Given the description of an element on the screen output the (x, y) to click on. 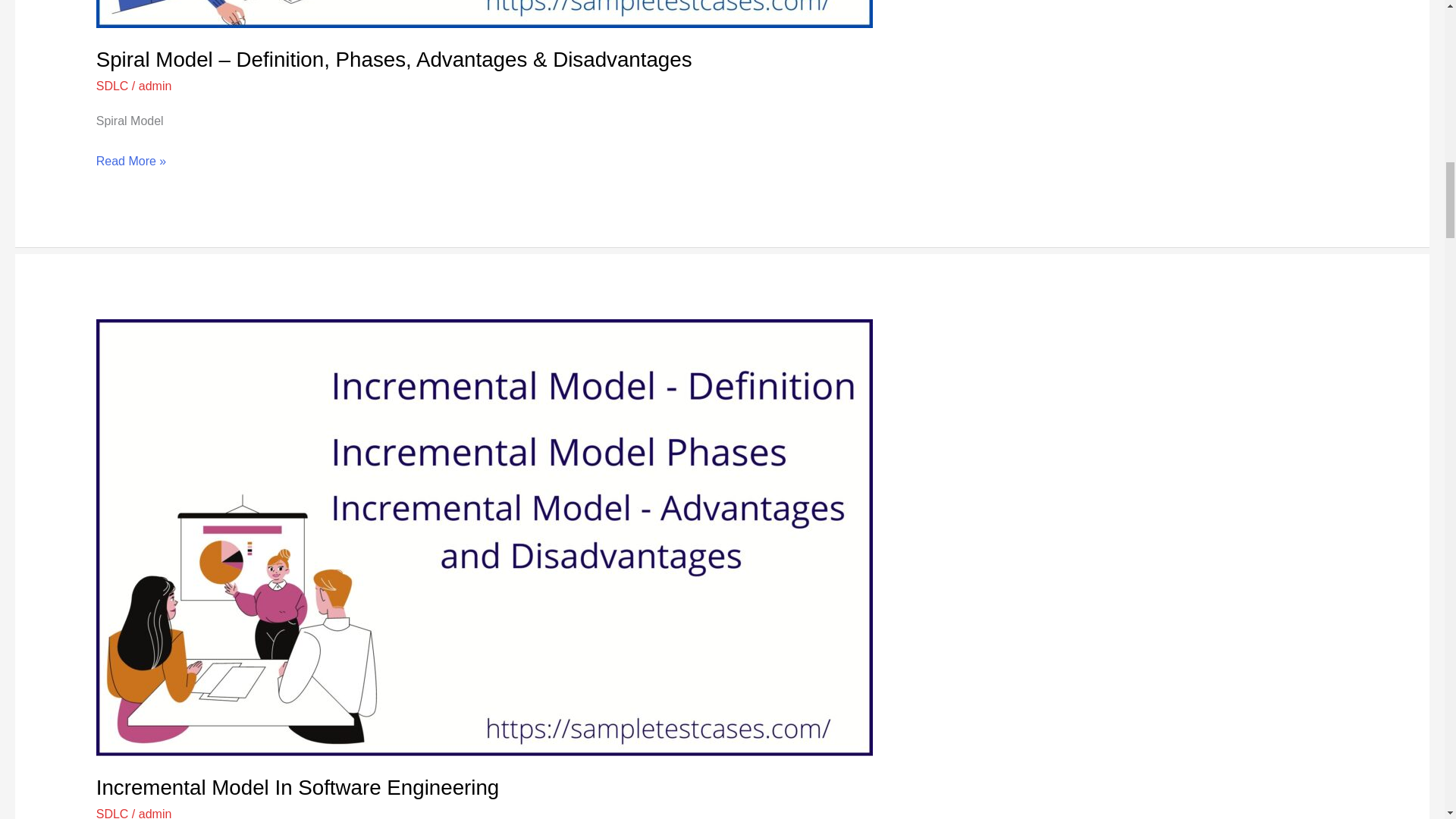
View all posts by admin (154, 813)
View all posts by admin (154, 85)
admin (154, 85)
SDLC (112, 85)
Incremental Model In Software Engineering (297, 787)
